Given the description of an element on the screen output the (x, y) to click on. 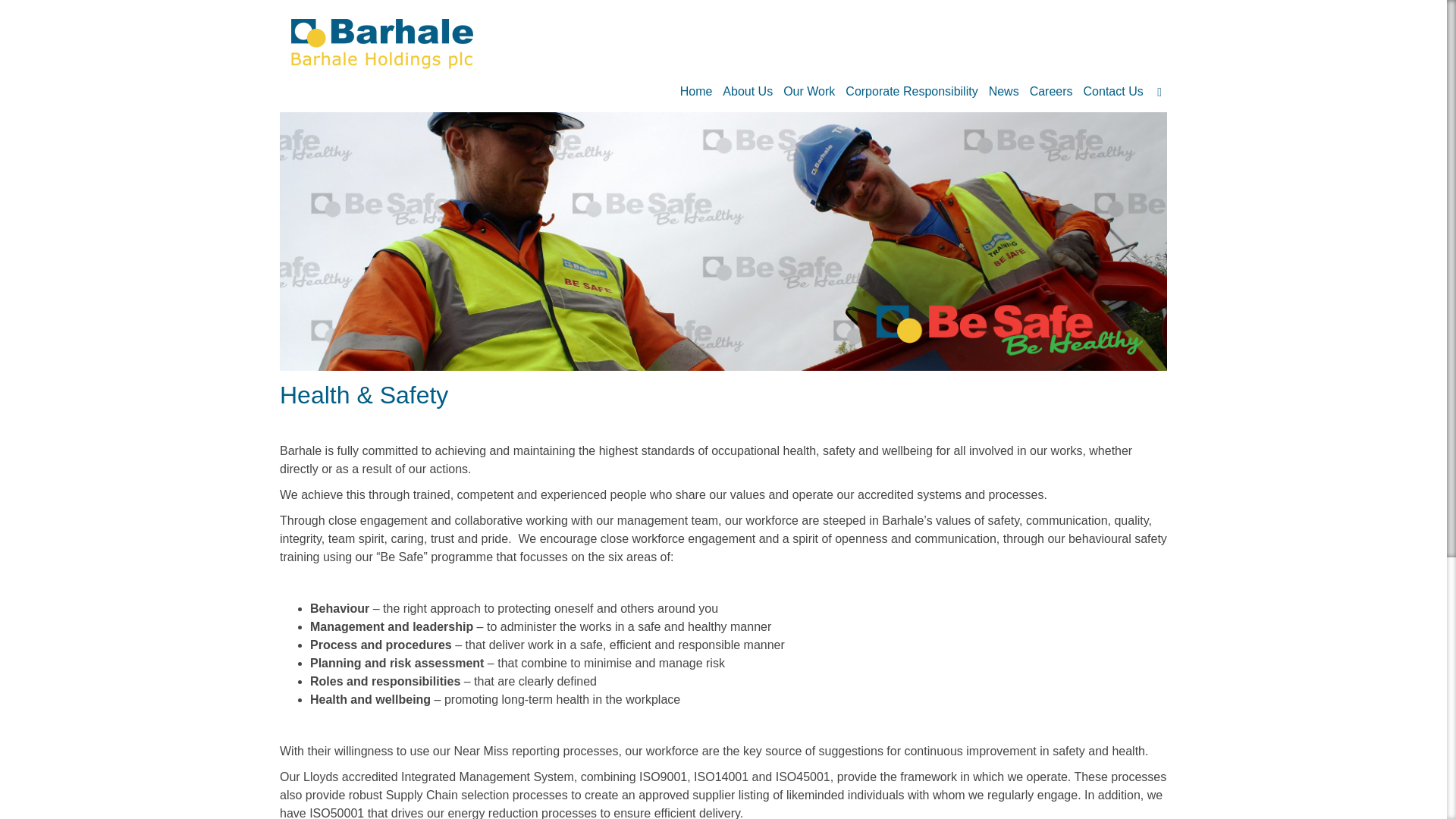
Home (696, 94)
Corporate Responsibility (910, 94)
Careers (1051, 94)
About Us (747, 94)
Contact Us (1112, 94)
Our Work (808, 94)
